Given the description of an element on the screen output the (x, y) to click on. 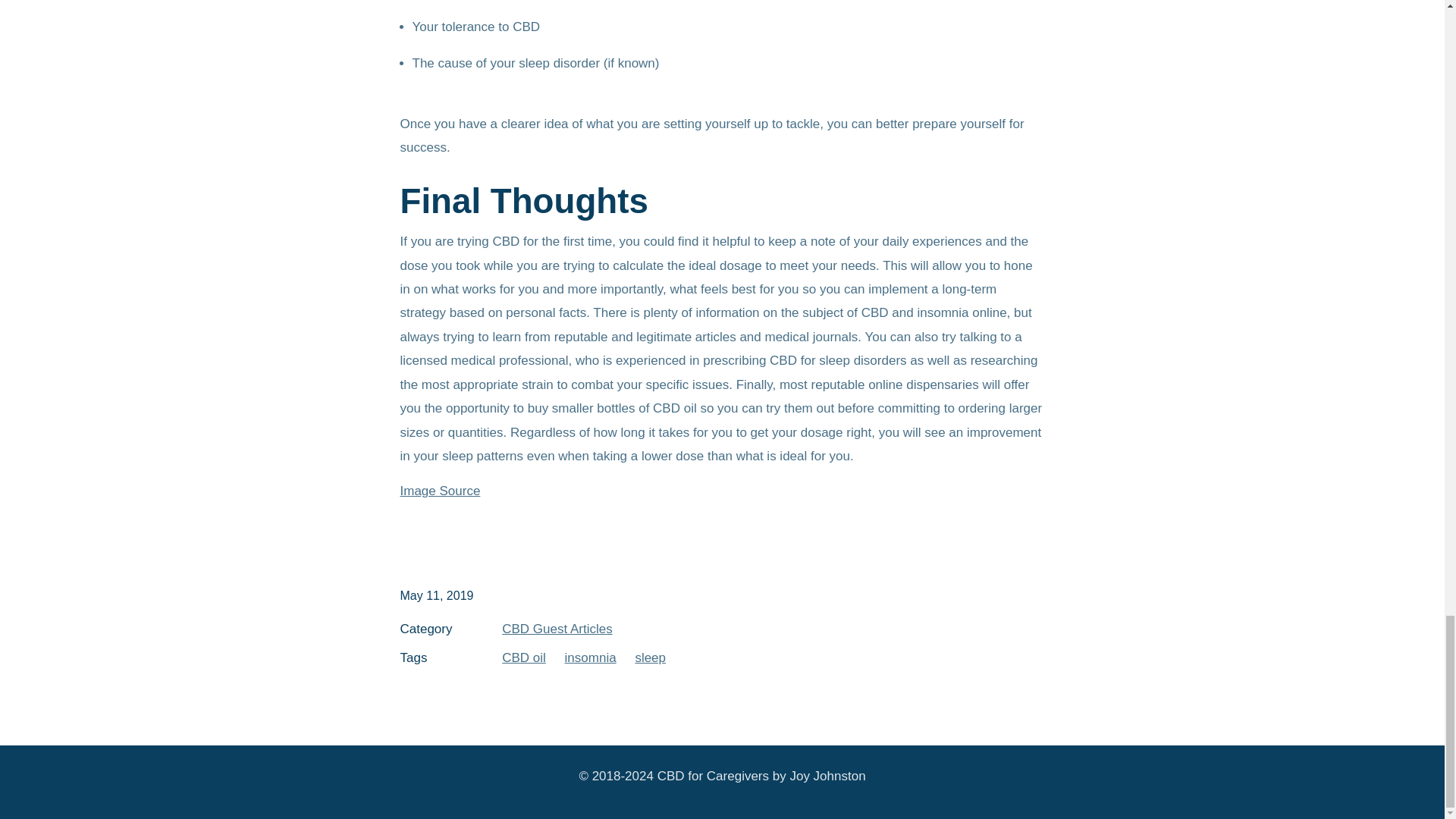
Image Source (440, 490)
sleep (649, 657)
insomnia (589, 657)
CBD Guest Articles (557, 628)
CBD oil (524, 657)
